Given the description of an element on the screen output the (x, y) to click on. 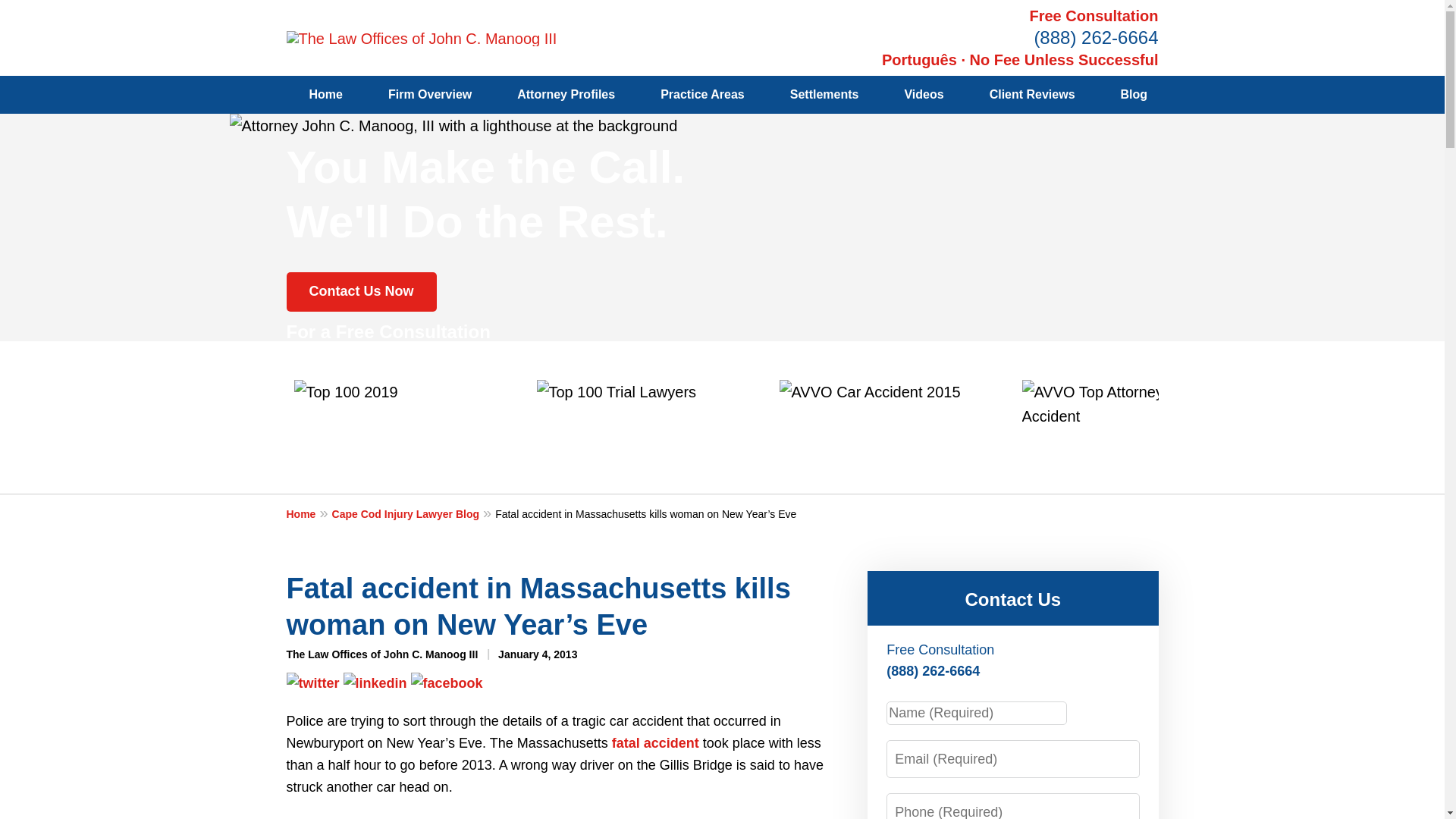
Practice Areas (702, 94)
Share (374, 681)
Firm Overview (430, 94)
Videos (923, 94)
Contact Us (1012, 598)
Home (325, 94)
Home (308, 513)
Settlements (824, 94)
Blog (1133, 94)
Contact Us Now (361, 291)
